Given the description of an element on the screen output the (x, y) to click on. 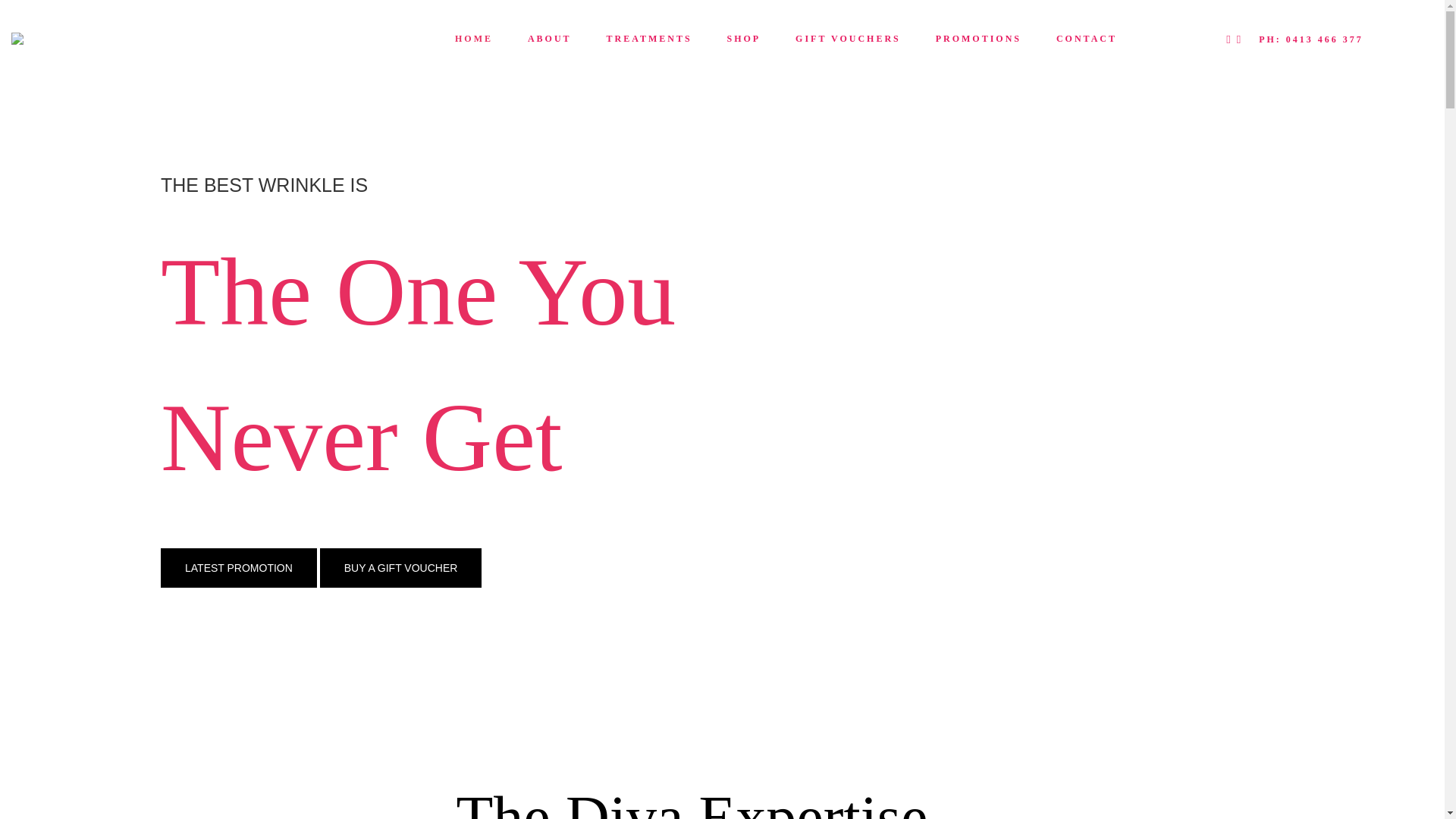
PROMOTIONS Element type: text (978, 38)
HOME Element type: text (473, 38)
GIFT VOUCHERS Element type: text (847, 38)
SHOP Element type: text (743, 38)
BUY A GIFT VOUCHER Element type: text (401, 567)
LATEST PROMOTION Element type: text (238, 567)
TREATMENTS Element type: text (648, 38)
CONTACT Element type: text (1086, 38)
ABOUT Element type: text (549, 38)
PH: 0413 466 377 Element type: text (1310, 39)
